Given the description of an element on the screen output the (x, y) to click on. 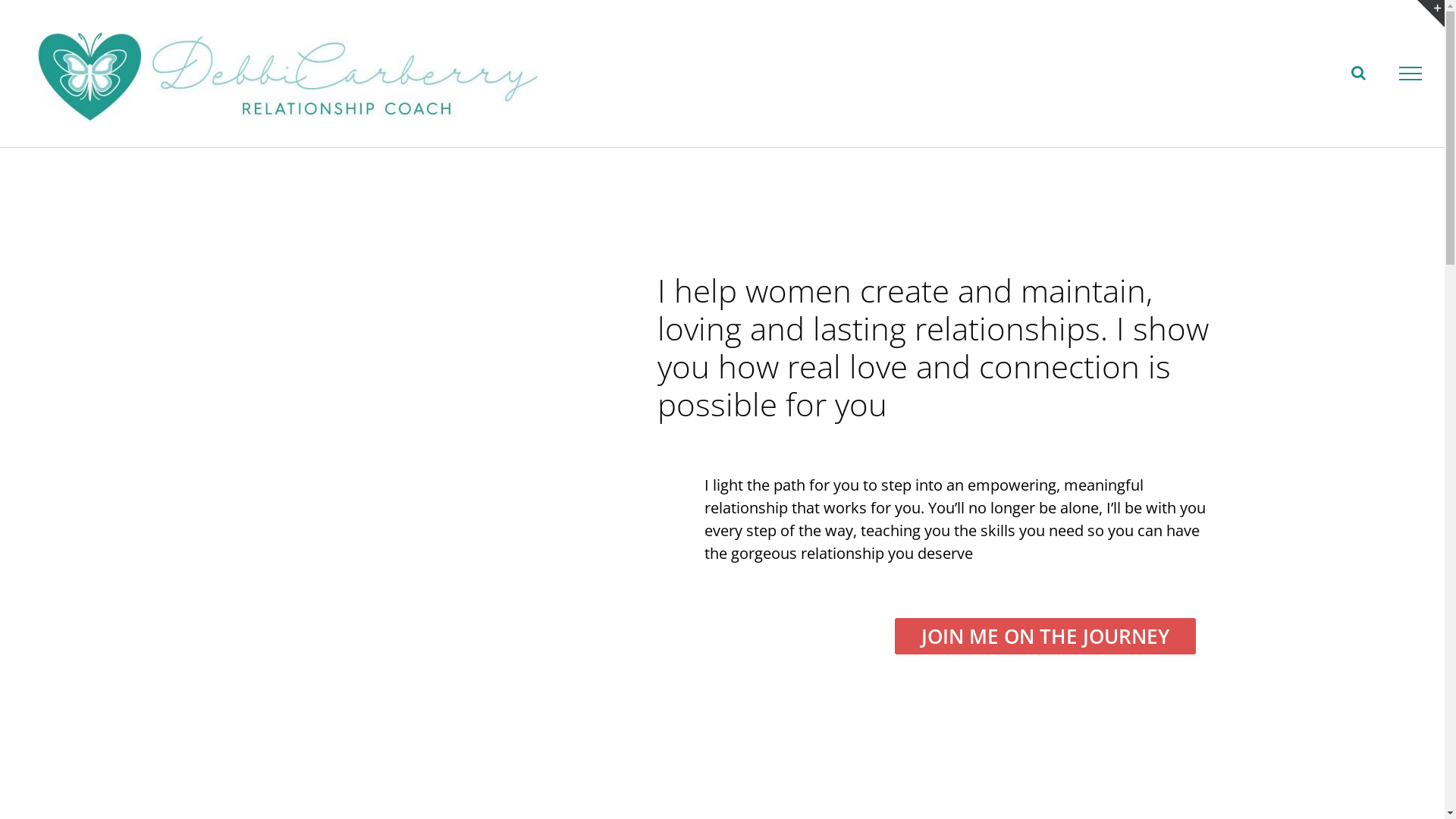
Toggle Sliding Bar Area Element type: text (1430, 13)
